Given the description of an element on the screen output the (x, y) to click on. 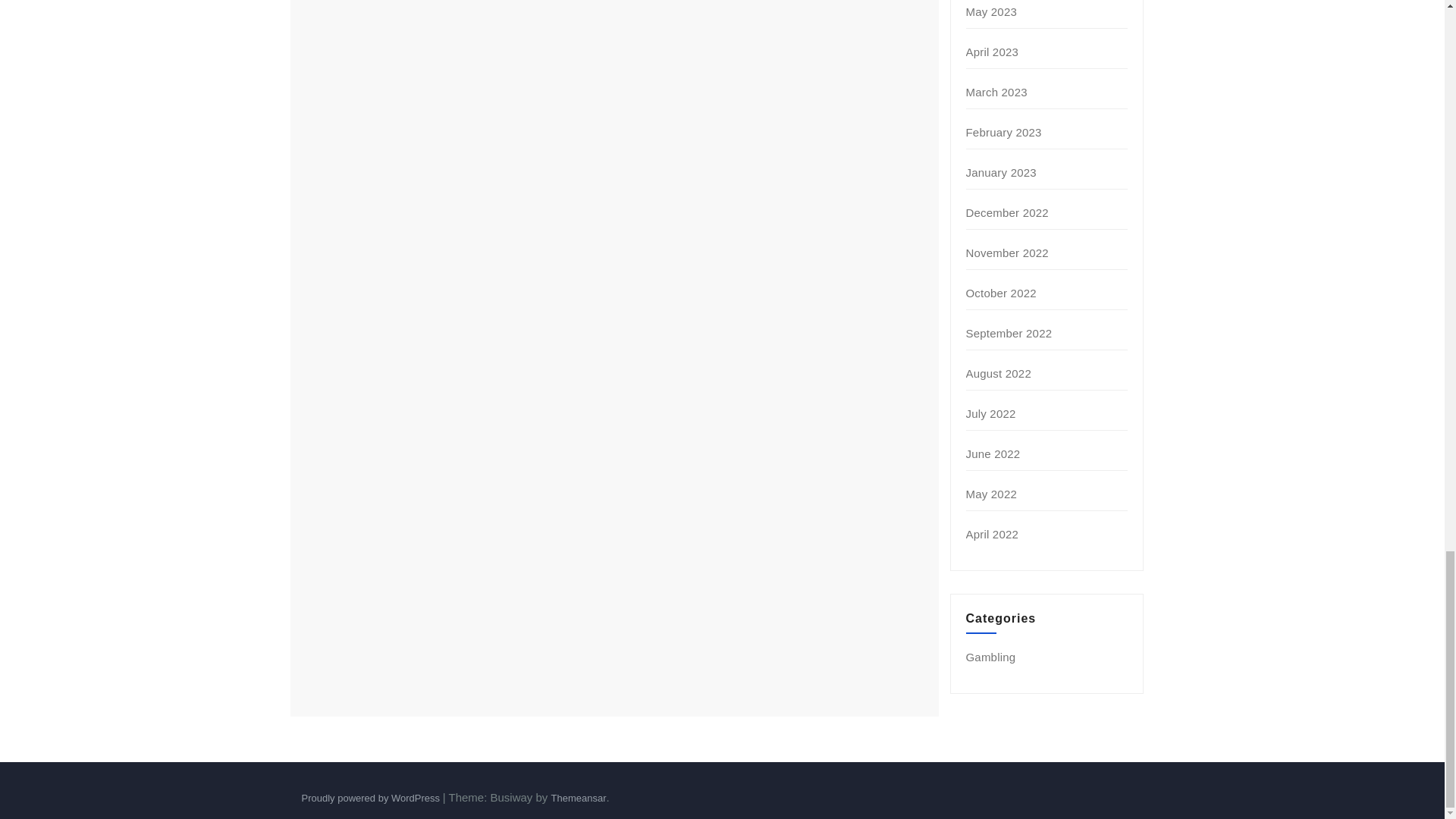
April 2023 (992, 51)
May 2023 (991, 11)
January 2023 (1001, 172)
March 2023 (996, 91)
February 2023 (1004, 132)
